Given the description of an element on the screen output the (x, y) to click on. 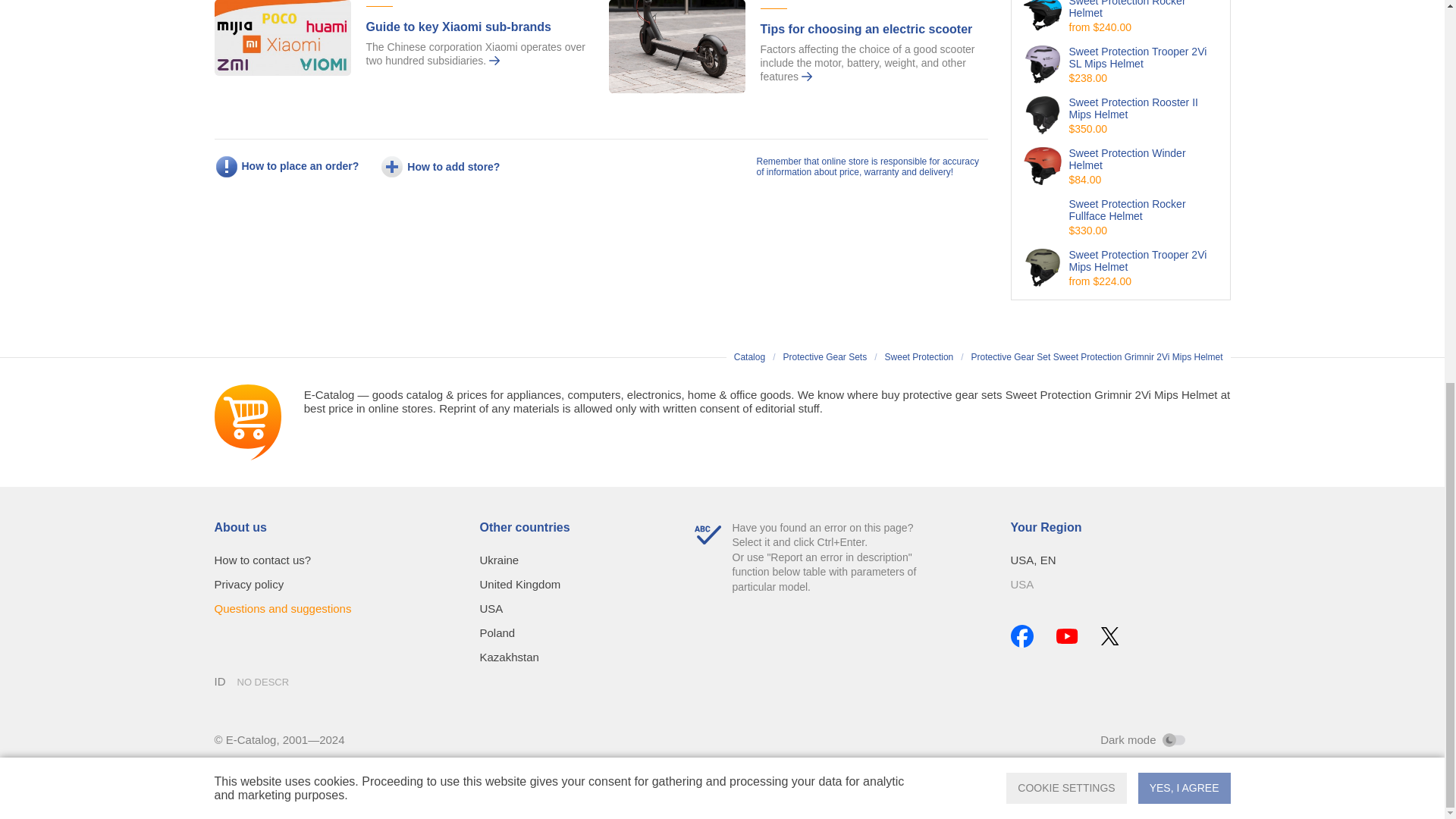
YouTube (1066, 635)
Facebook (1021, 635)
